Given the description of an element on the screen output the (x, y) to click on. 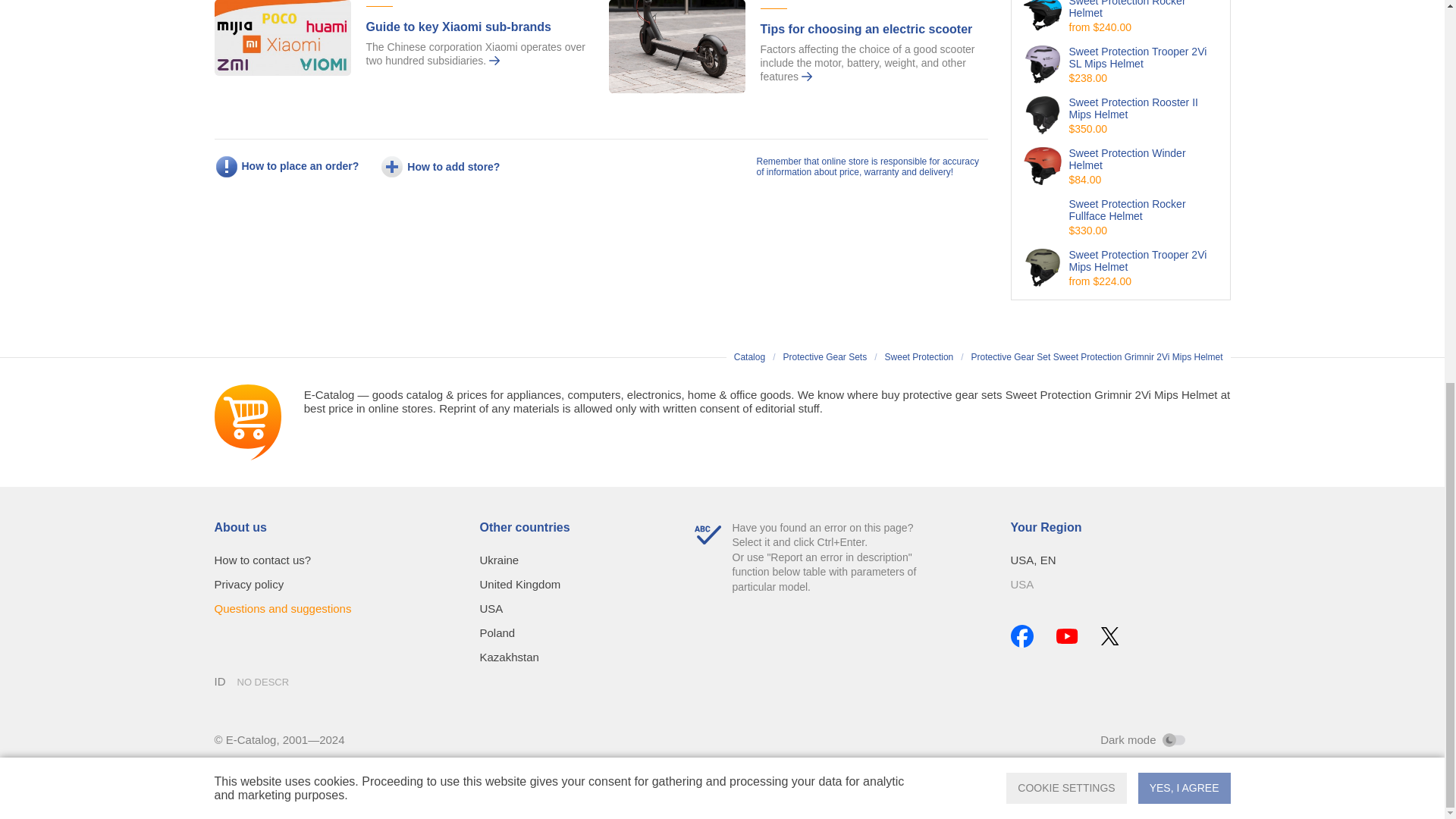
YouTube (1066, 635)
Facebook (1021, 635)
